Given the description of an element on the screen output the (x, y) to click on. 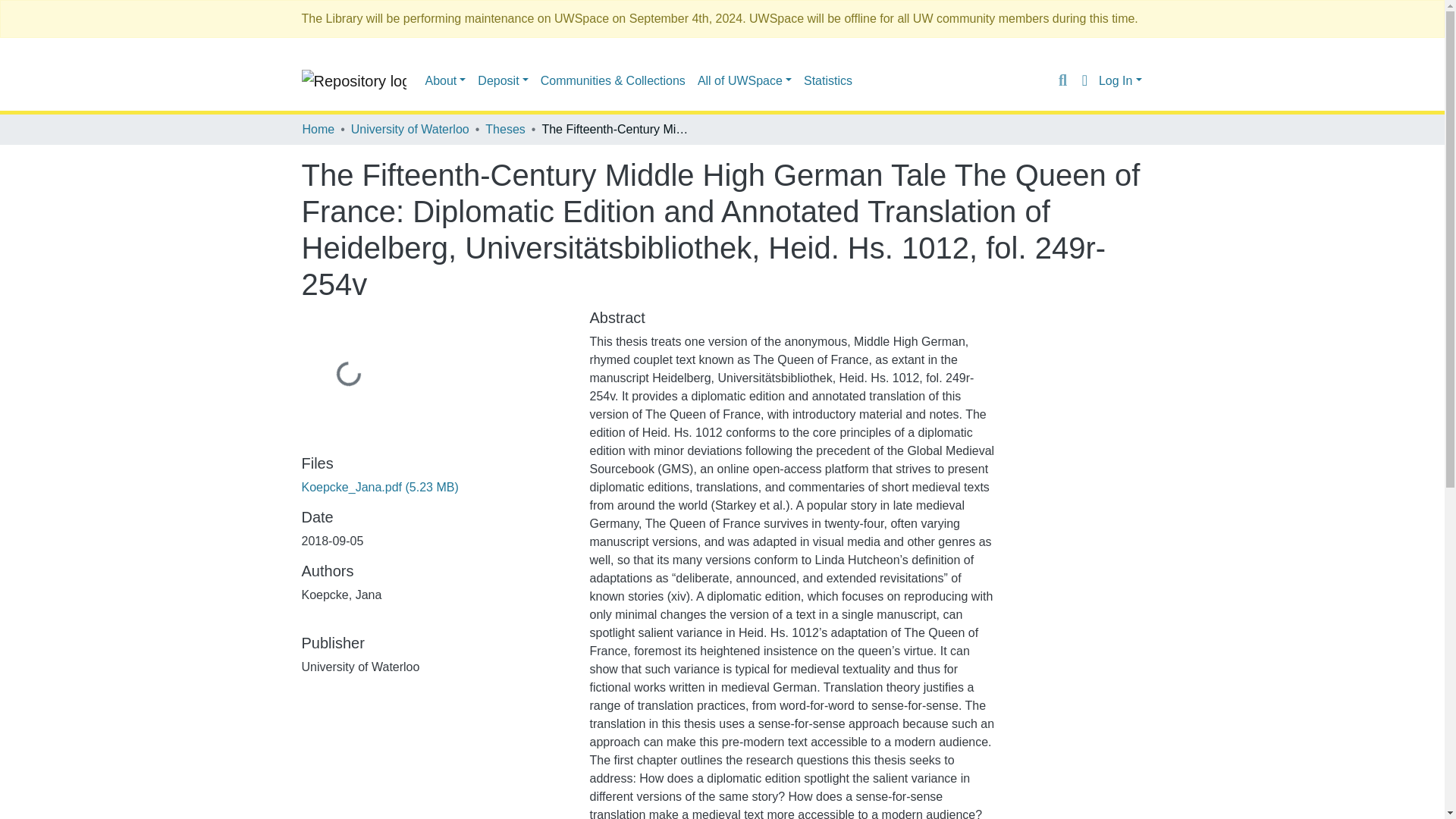
University of Waterloo (409, 129)
About (445, 80)
Theses (504, 129)
All of UWSpace (744, 80)
Language switch (1084, 80)
Statistics (828, 80)
Log In (1119, 80)
Deposit (502, 80)
Home (317, 129)
Statistics (828, 80)
